Given the description of an element on the screen output the (x, y) to click on. 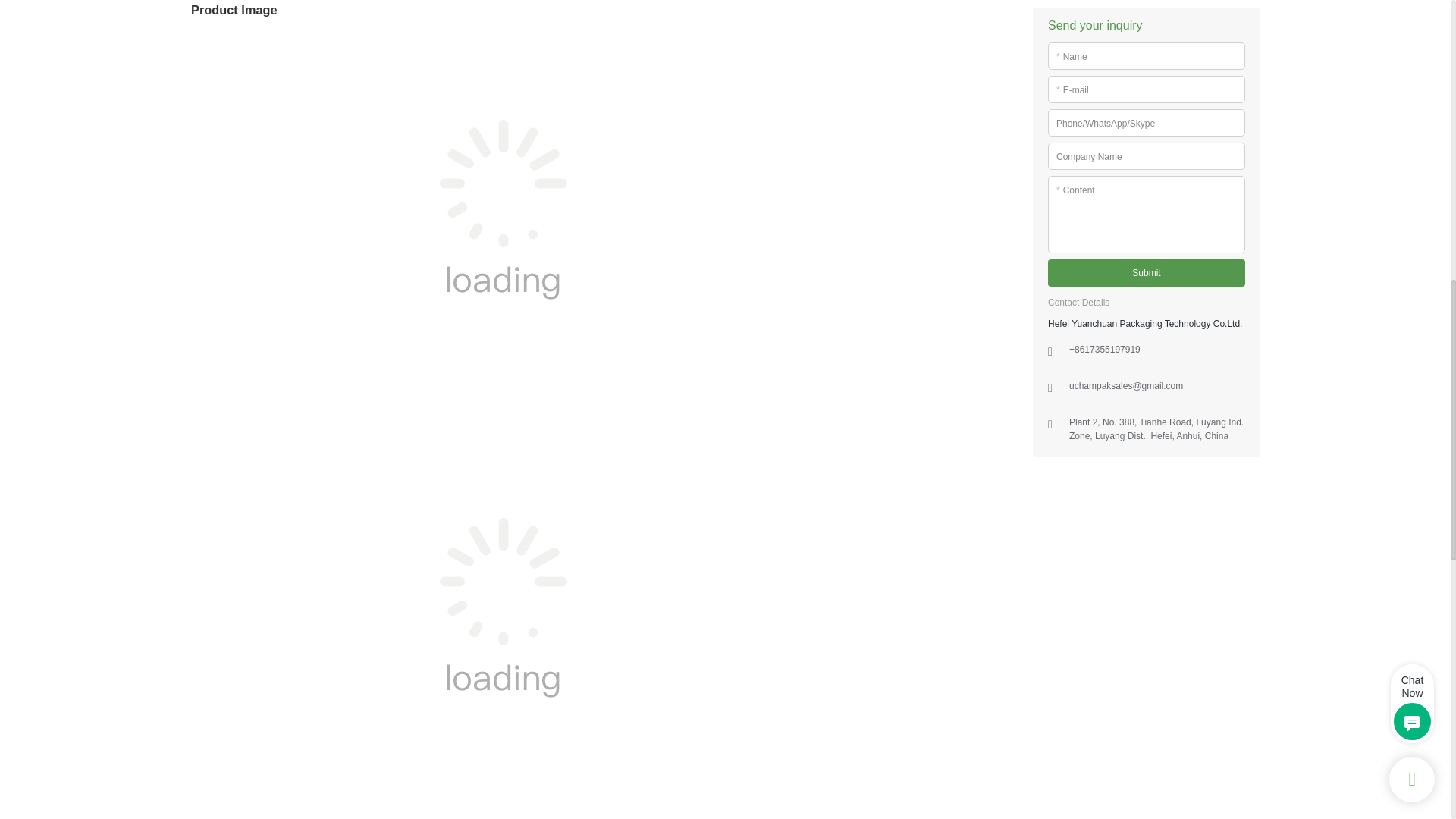
1670 Tonnar Parkway (1156, 331)
1670 Tonnar Parkway (1125, 295)
1670 Tonnar Parkway (1104, 258)
